Given the description of an element on the screen output the (x, y) to click on. 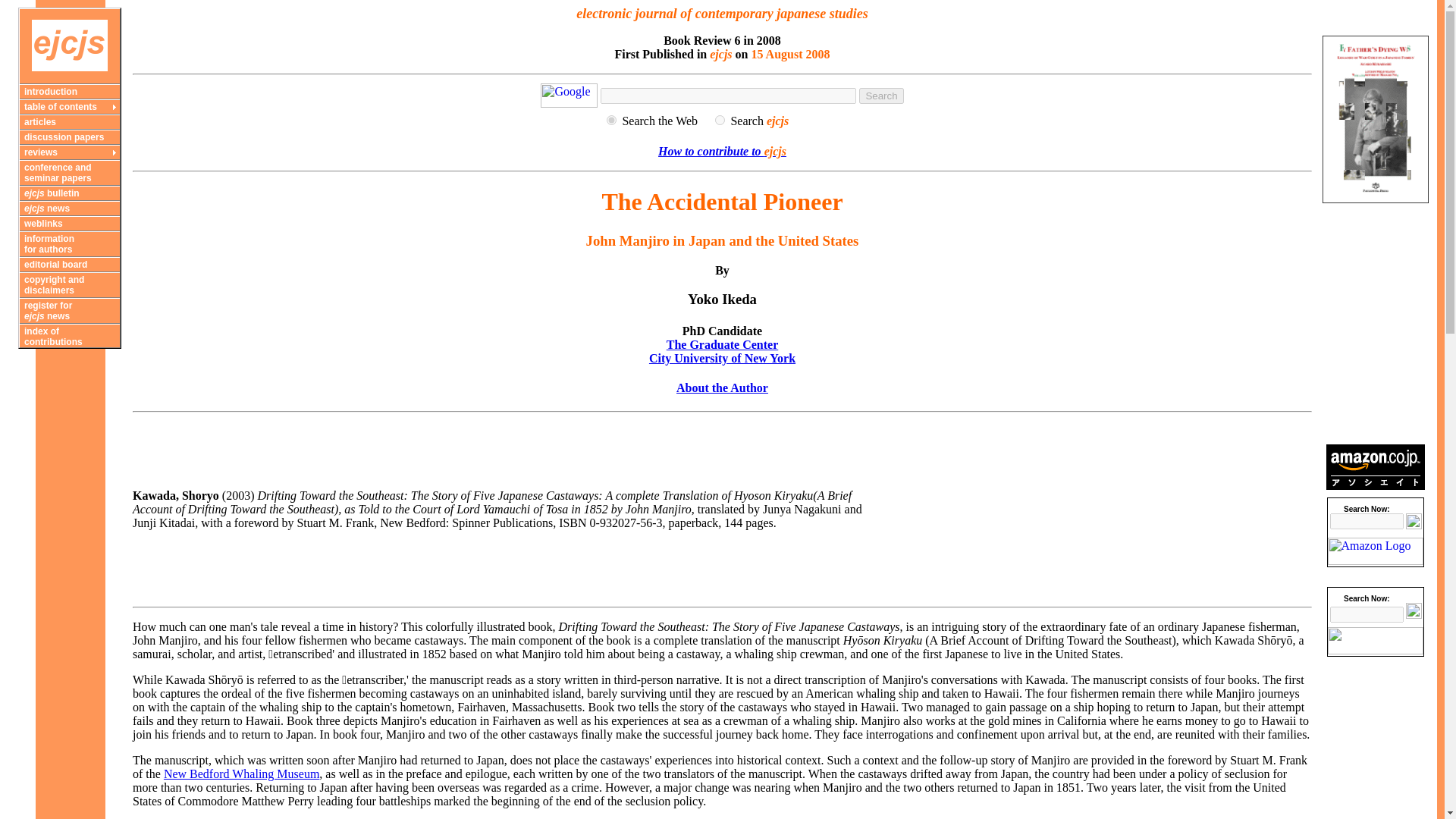
New Bedford Whaling Museum (240, 773)
About the Author (722, 387)
Search (880, 95)
Go (1414, 610)
The Graduate Center (722, 344)
Go (1414, 521)
Small ejcjs logo (69, 45)
How to contribute to ejcjs (722, 151)
www.japanesestudies.org.uk (719, 120)
City University of New York (721, 358)
